Given the description of an element on the screen output the (x, y) to click on. 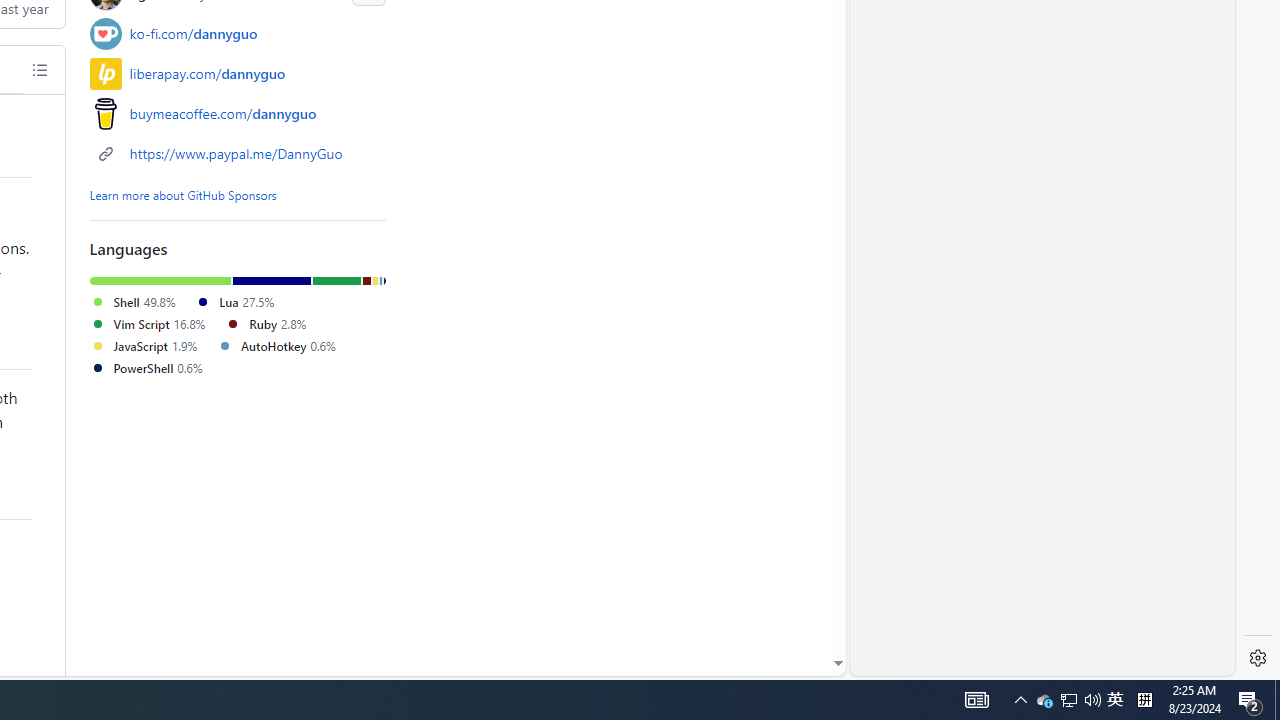
ko-fi.com/dannyguo (237, 33)
ko-fi.com/dannyguo (193, 33)
JavaScript1.9% (153, 346)
Shell49.8% (142, 302)
Ruby2.8% (273, 324)
Learn more about GitHub Sponsors (182, 194)
buymeacoffee.com/dannyguo (223, 113)
liberapay (105, 73)
PowerShell0.6% (153, 368)
AutoHotkey 0.6% (276, 345)
JavaScript 1.9% (143, 345)
liberapay.com/dannyguo (207, 74)
ko_fi (105, 33)
PowerShell 0.6% (146, 367)
Lua 27.5% (234, 301)
